Given the description of an element on the screen output the (x, y) to click on. 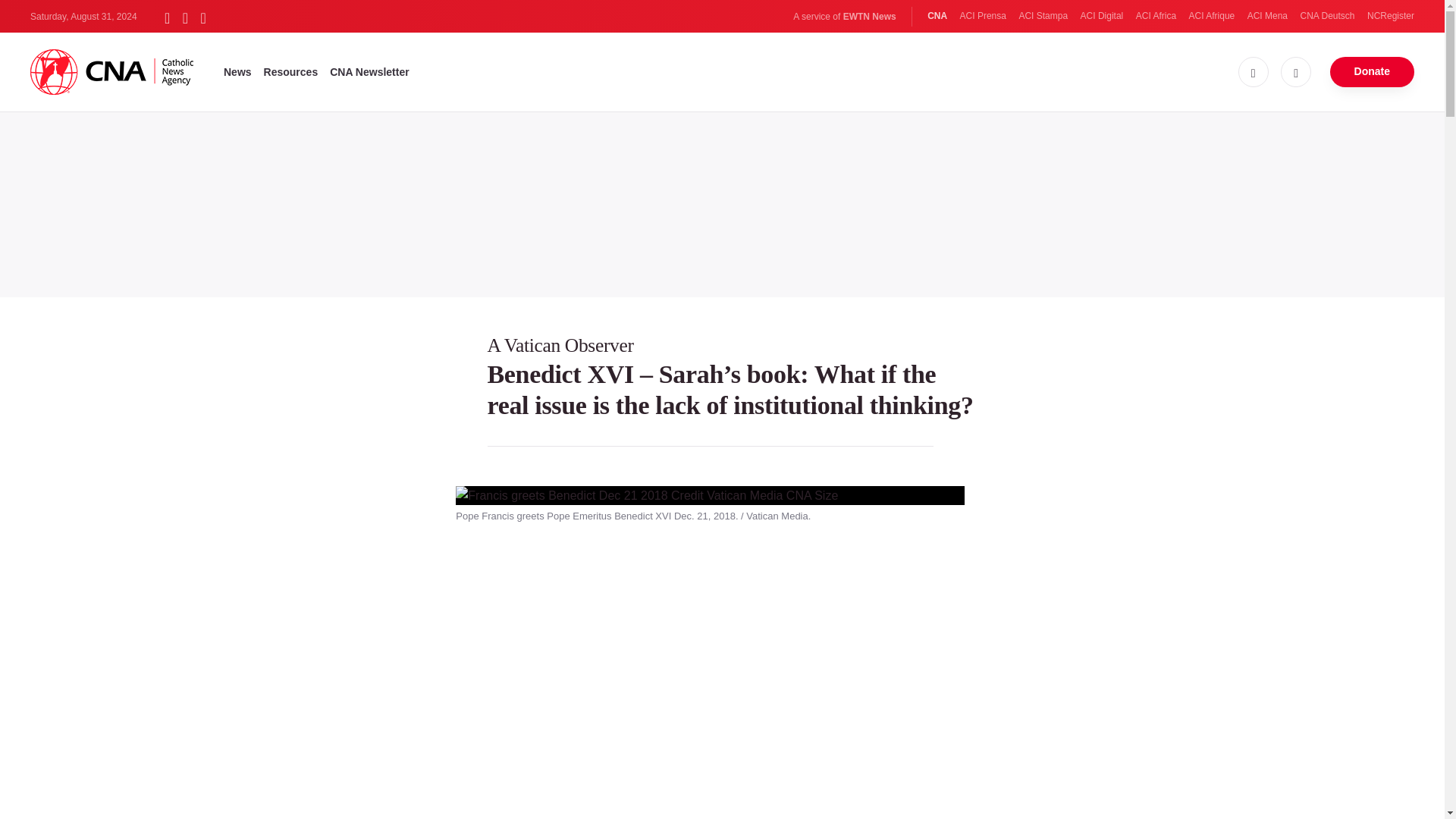
EWTN News (869, 16)
Resources (290, 71)
ACI Stampa (1042, 16)
News (237, 71)
CNA Deutsch (1327, 16)
NCRegister (1390, 16)
ACI Mena (1267, 16)
ACI Digital (1102, 16)
ACI Prensa (982, 16)
ACI Afrique (1211, 16)
